Given the description of an element on the screen output the (x, y) to click on. 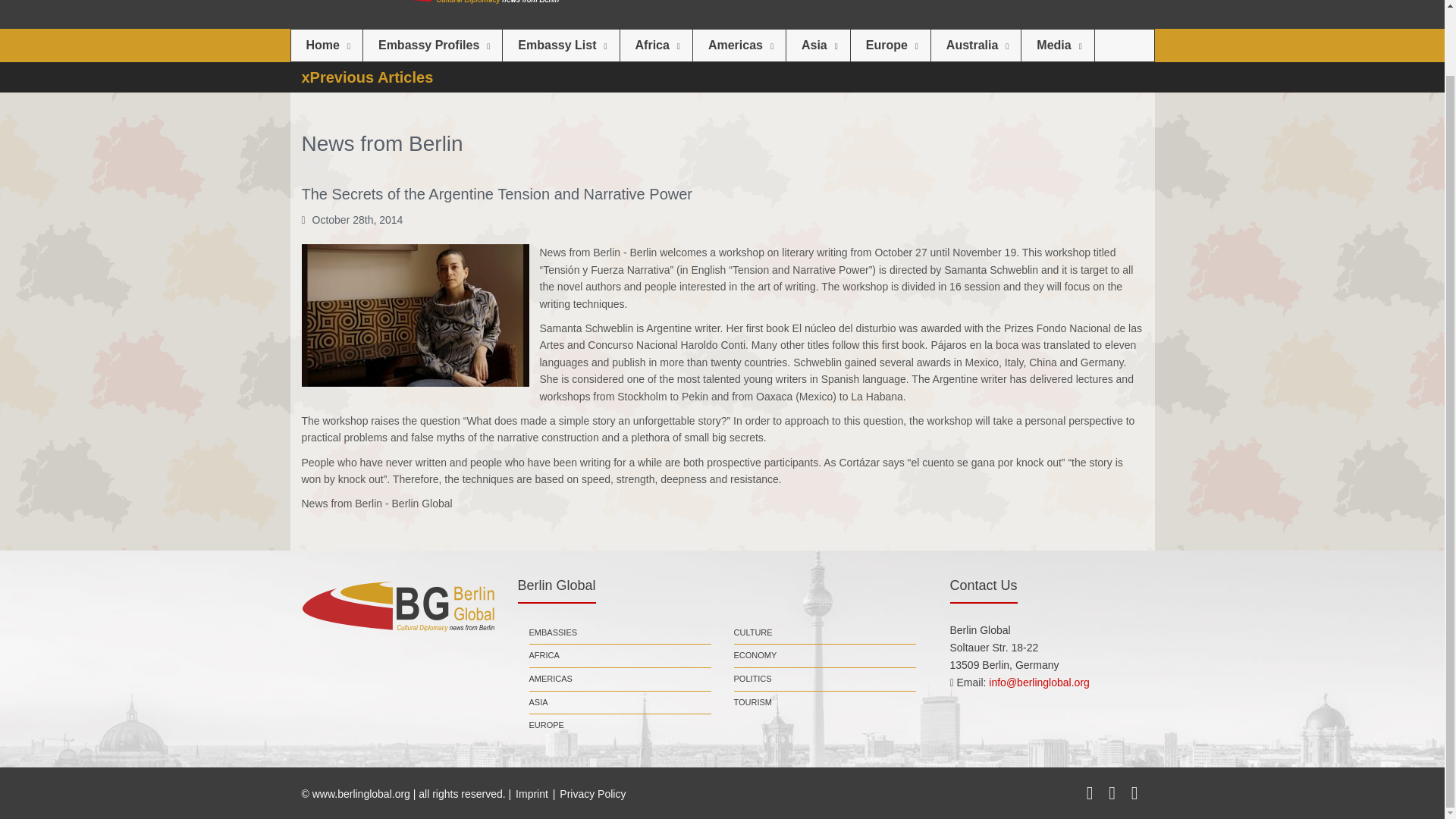
EUROPE (546, 725)
AFRICA (544, 655)
CULTURE (753, 632)
Americas (739, 44)
ASIA (538, 702)
Africa (656, 44)
Europe (890, 44)
Asia (818, 44)
TOURISM (753, 702)
EMBASSIES (553, 632)
Australia (975, 44)
Europe (890, 44)
Australia (975, 44)
Embassy List (560, 44)
AMERICAS (550, 679)
